Given the description of an element on the screen output the (x, y) to click on. 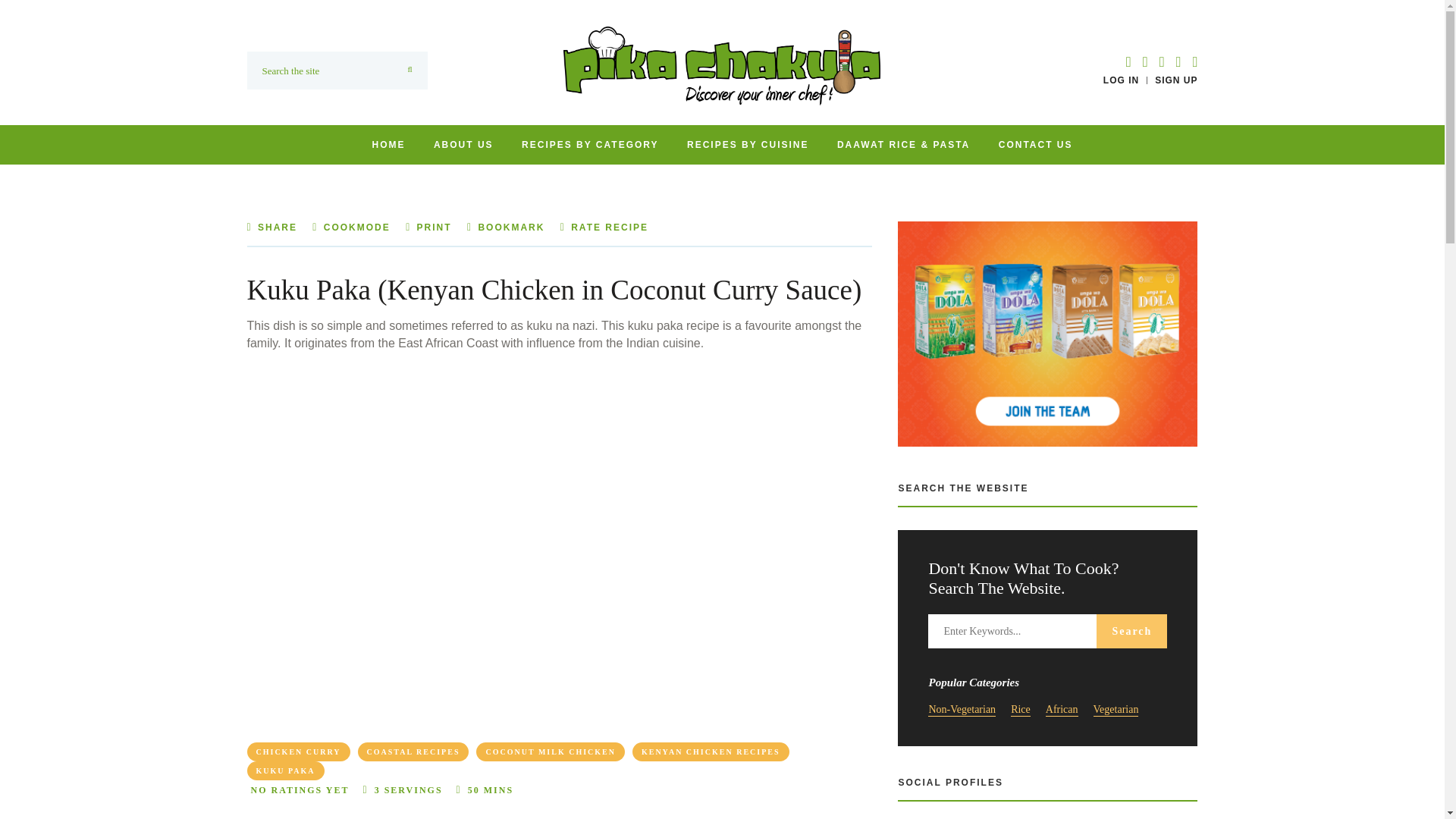
HOME (387, 144)
ABOUT US (463, 144)
RECIPES BY CATEGORY (589, 144)
SIGN UP (1175, 80)
LOG IN (1120, 80)
CONTACT US (1035, 144)
RECIPES BY CUISINE (747, 144)
Search (1131, 631)
